Given the description of an element on the screen output the (x, y) to click on. 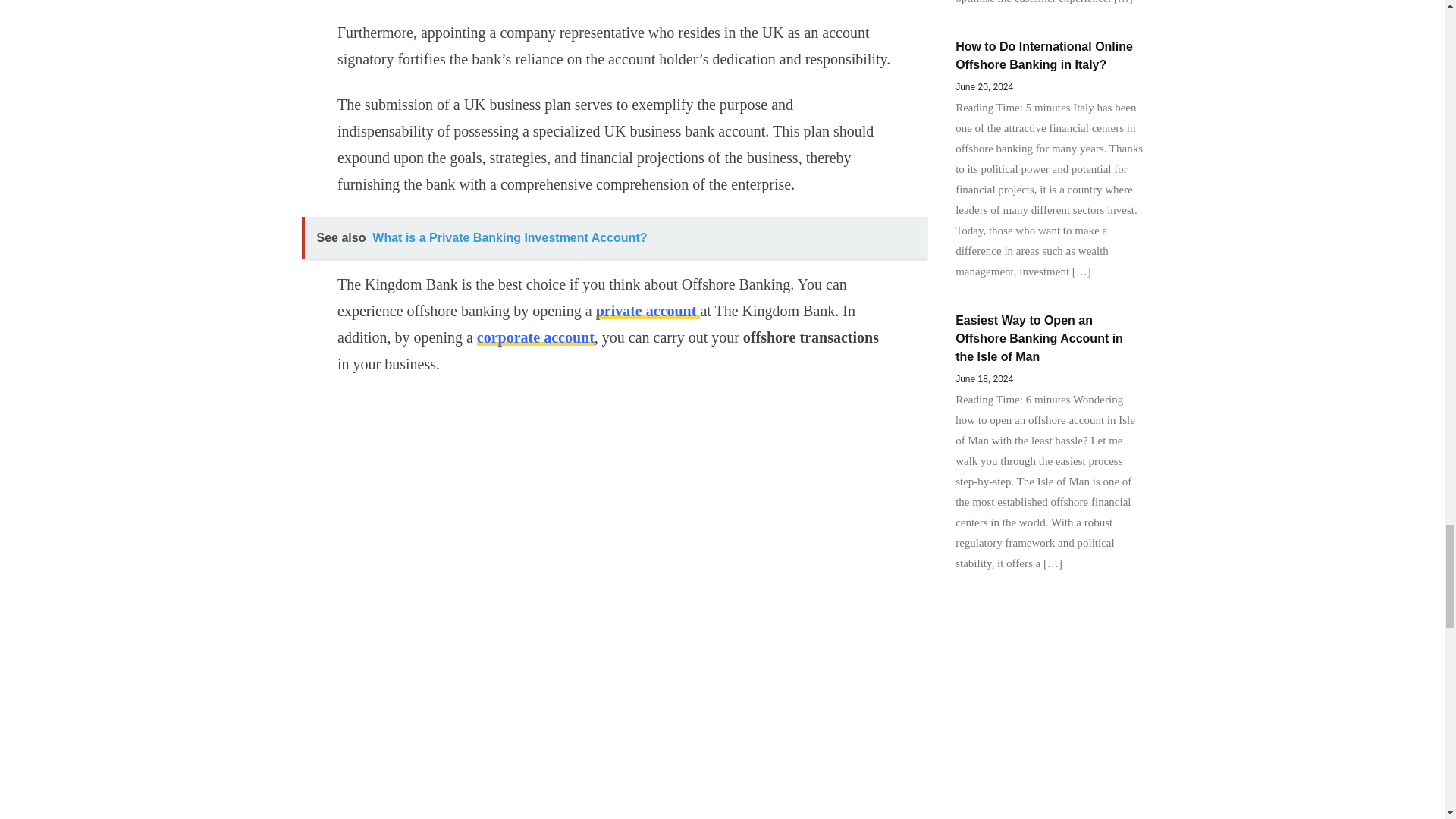
See also  What is a Private Banking Investment Account? (614, 238)
corporate account (535, 337)
private account (647, 310)
